Given the description of an element on the screen output the (x, y) to click on. 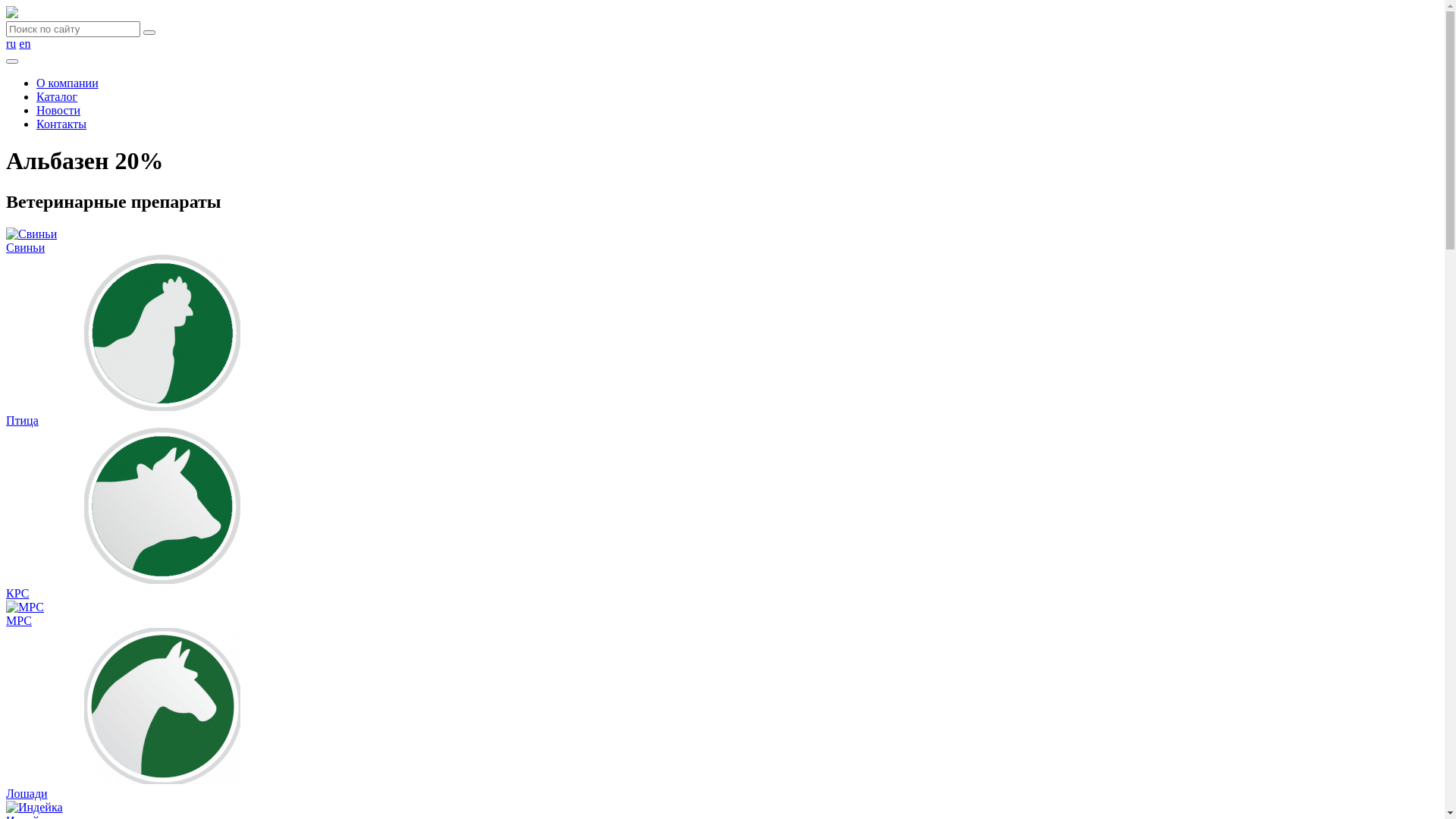
ru Element type: text (10, 43)
en Element type: text (24, 43)
